Given the description of an element on the screen output the (x, y) to click on. 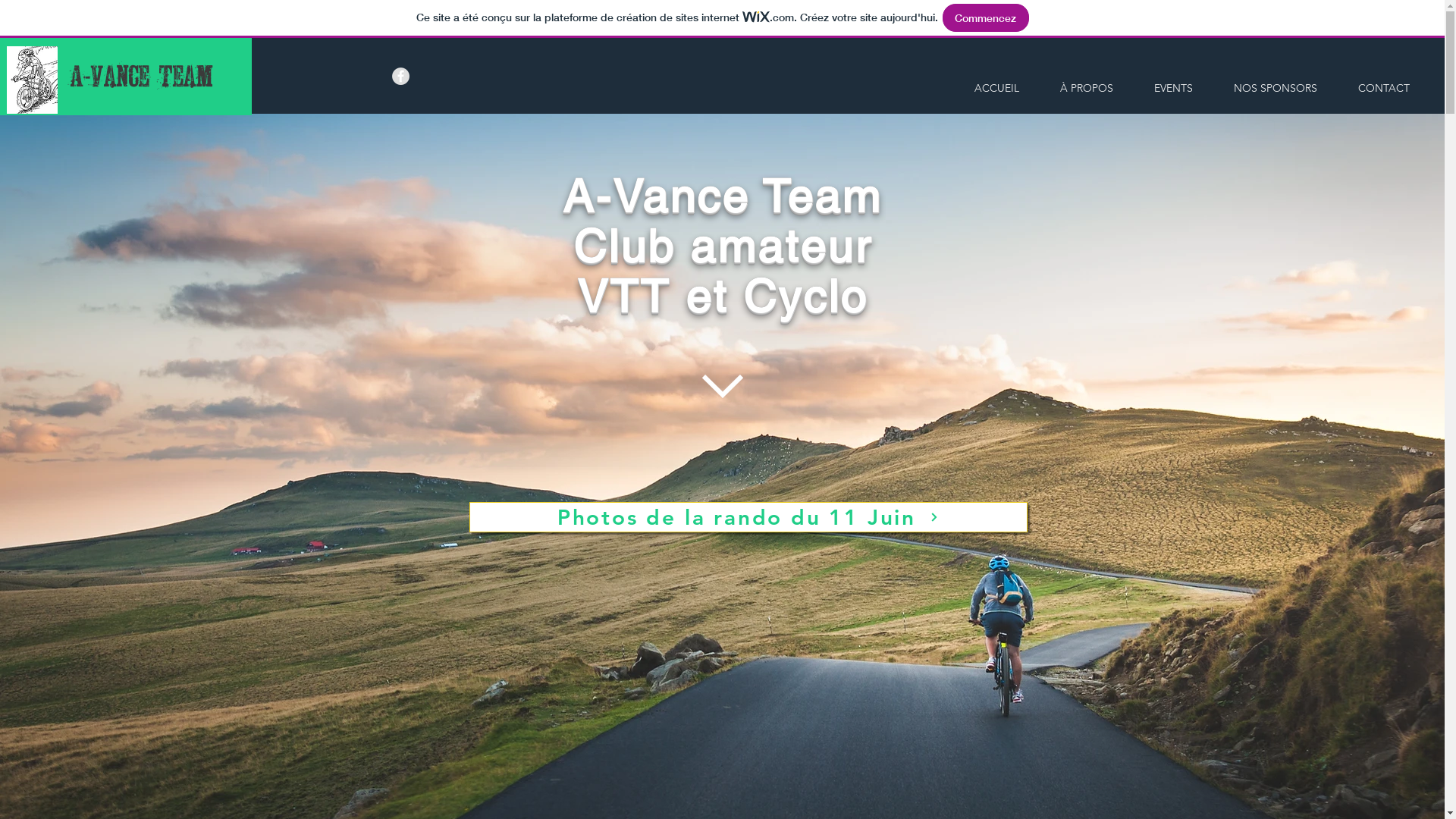
ACCUEIL Element type: text (996, 88)
EVENTS Element type: text (1173, 88)
NOS SPONSORS Element type: text (1275, 88)
A-Vance Team Element type: text (141, 77)
CONTACT Element type: text (1383, 88)
Photos de la rando du 11 Juin Element type: text (747, 517)
